Given the description of an element on the screen output the (x, y) to click on. 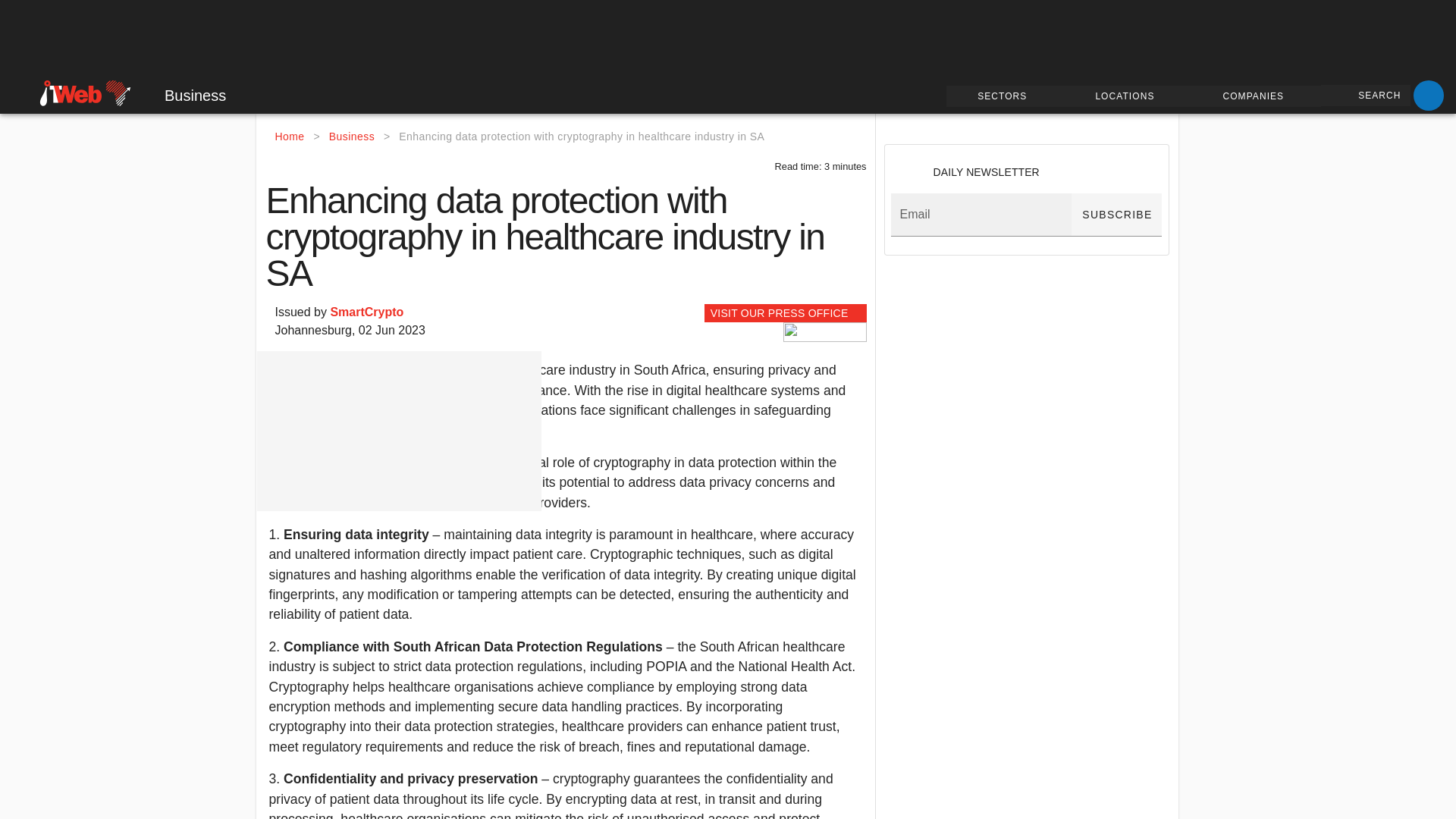
COMPANIES (1255, 96)
LOCATIONS (1127, 96)
SUBSCRIBE (1116, 214)
VISIT OUR PRESS OFFICE (785, 312)
Home (289, 136)
SEARCH (1365, 95)
SOUTH AFRICA (53, 90)
Business (351, 136)
Business (183, 95)
SECTORS (1005, 96)
